Given the description of an element on the screen output the (x, y) to click on. 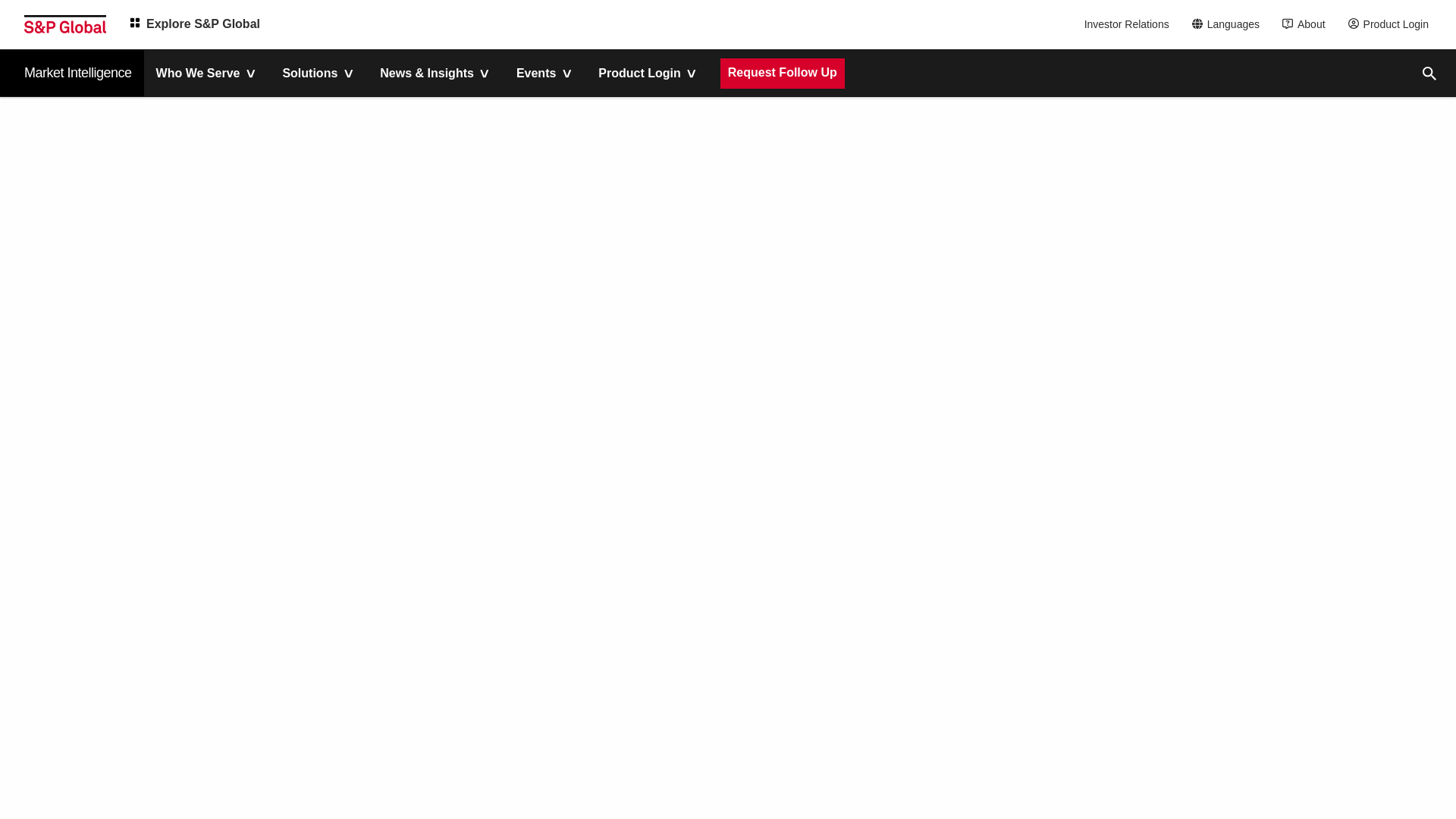
Product Login (1392, 24)
Languages (1230, 24)
About (1307, 24)
Investor Relations (1129, 24)
